Given the description of an element on the screen output the (x, y) to click on. 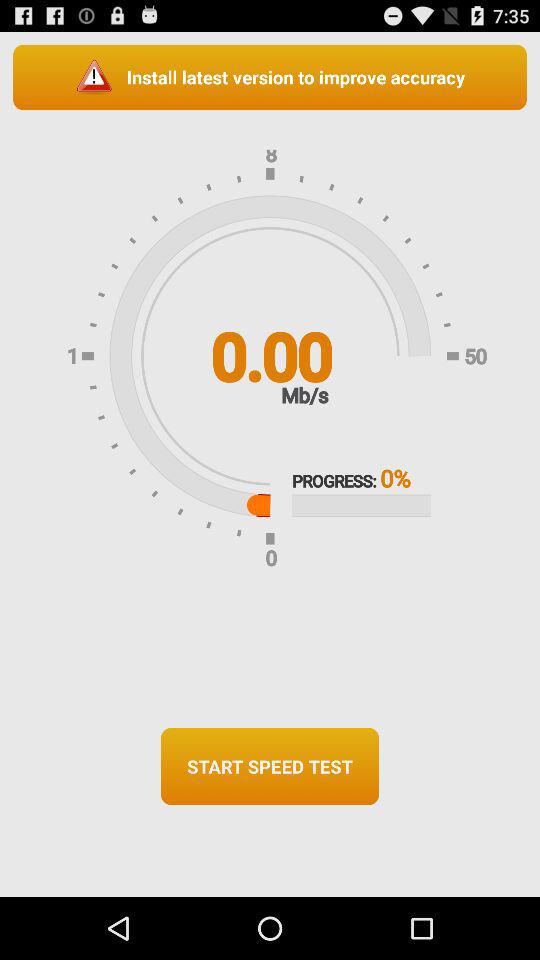
turn on the start speed test (269, 766)
